Given the description of an element on the screen output the (x, y) to click on. 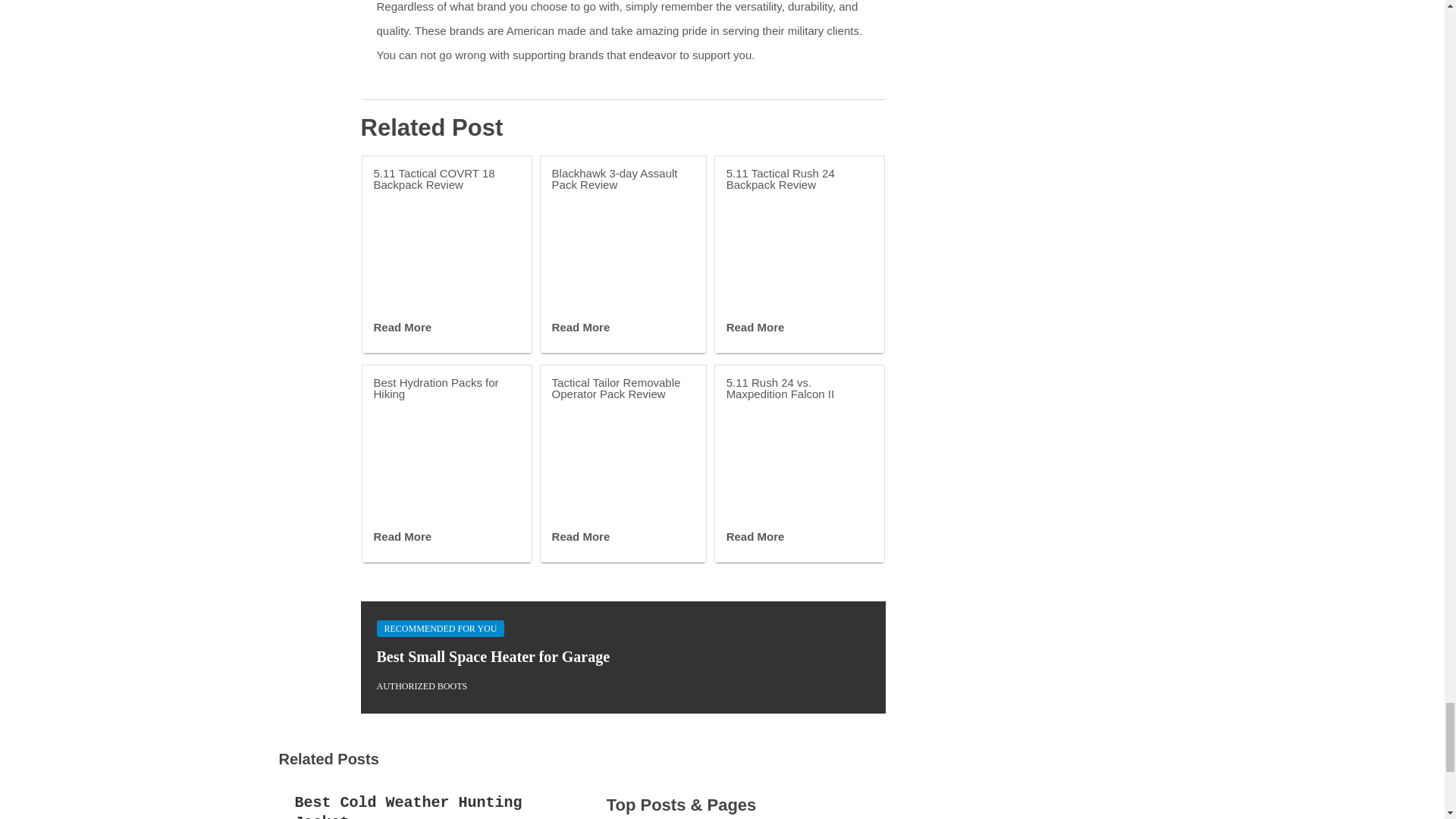
Best Small Space Heater for Garage (492, 656)
Posts by Authorized Boots (421, 685)
